Given the description of an element on the screen output the (x, y) to click on. 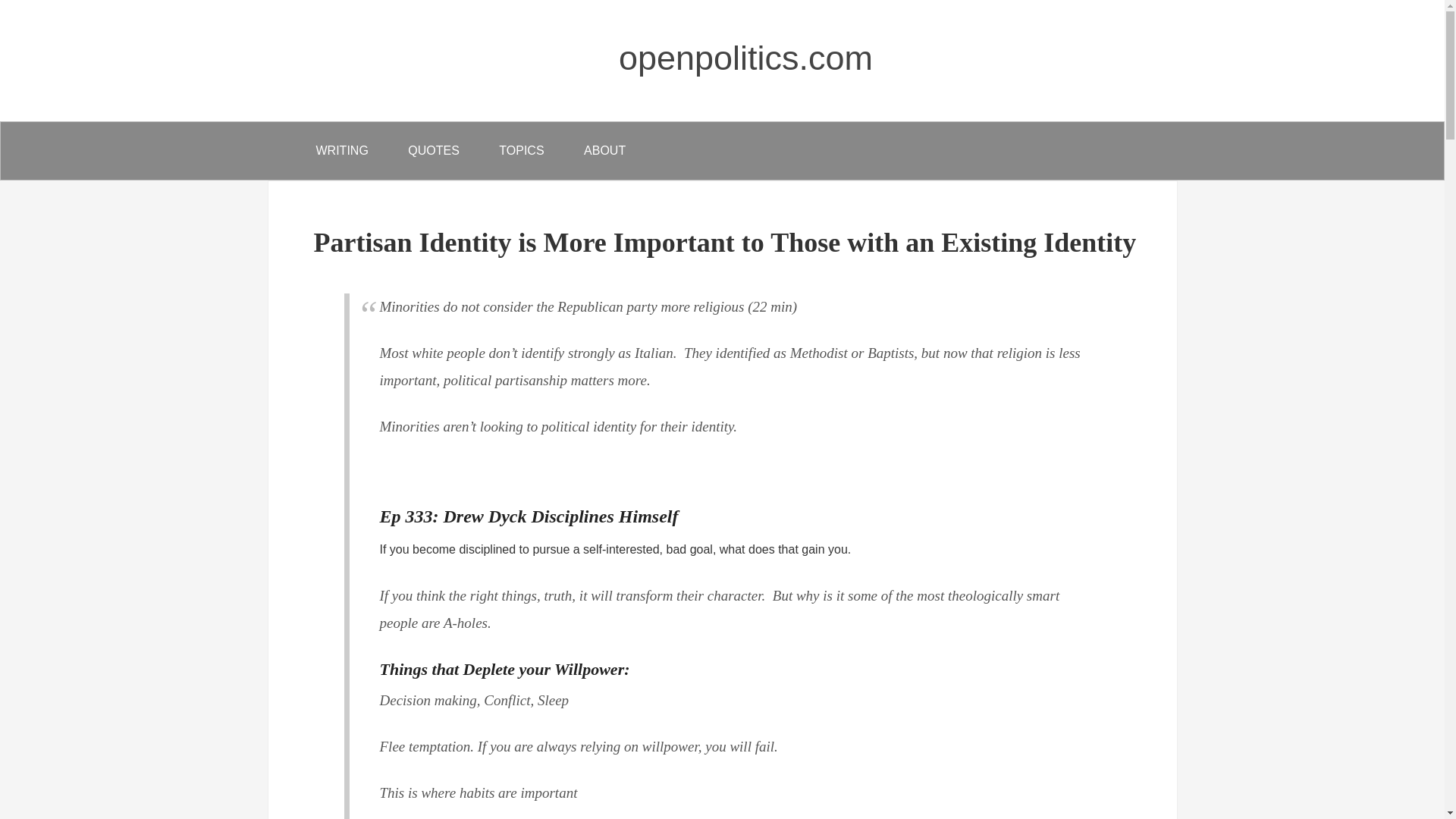
TOPICS (521, 150)
QUOTES (433, 150)
openpolitics.com (745, 57)
ABOUT (604, 150)
WRITING (341, 150)
